Given the description of an element on the screen output the (x, y) to click on. 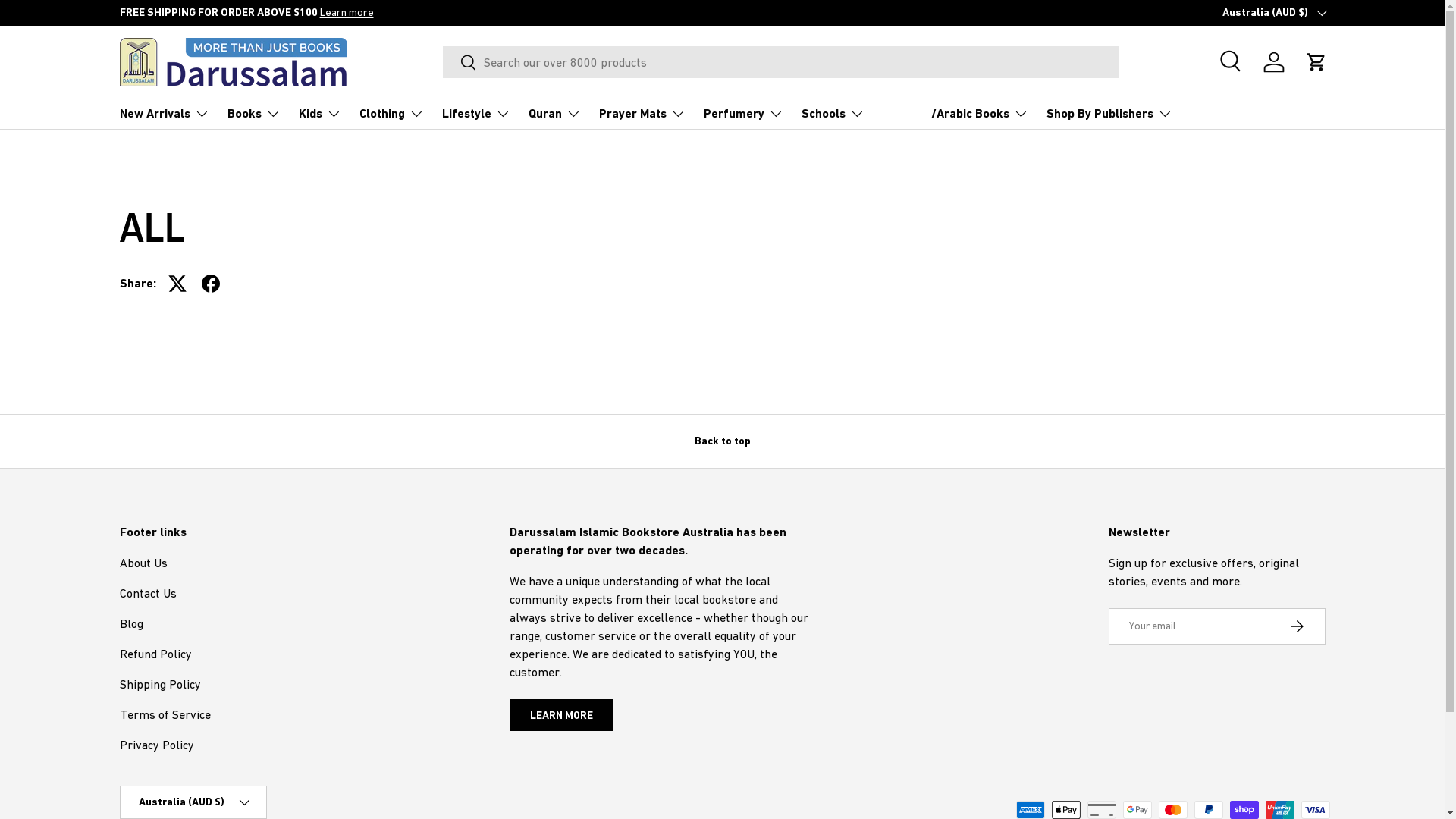
Terms of Service Element type: text (164, 714)
SUBSCRIBE Element type: text (1296, 626)
Back to top Element type: text (722, 440)
Tweet on X Element type: hover (177, 283)
Lifestyle Element type: text (475, 113)
Log in Element type: text (1273, 61)
Refund Policy Element type: text (155, 653)
Shop By Publishers Element type: text (1109, 113)
Schools Element type: text (831, 113)
Search Element type: text (1231, 61)
Share on Facebook Element type: hover (210, 283)
Kids Element type: text (319, 113)
Cart Element type: text (1316, 61)
Quran Element type: text (553, 113)
Privacy Policy Element type: text (156, 744)
About Us Element type: text (143, 562)
Prayer Mats Element type: text (642, 113)
SKIP TO CONTENT Element type: text (67, 21)
Contact Us Element type: text (147, 592)
Learn more Element type: text (255, 12)
Search Element type: text (459, 63)
Clothing Element type: text (391, 113)
Blog Element type: text (131, 623)
Australia (AUD $) Element type: text (1273, 12)
Books Element type: text (253, 113)
New Arrivals Element type: text (164, 113)
Shipping Policy Element type: text (159, 683)
LEARN MORE Element type: text (561, 715)
Perfumery Element type: text (743, 113)
